Given the description of an element on the screen output the (x, y) to click on. 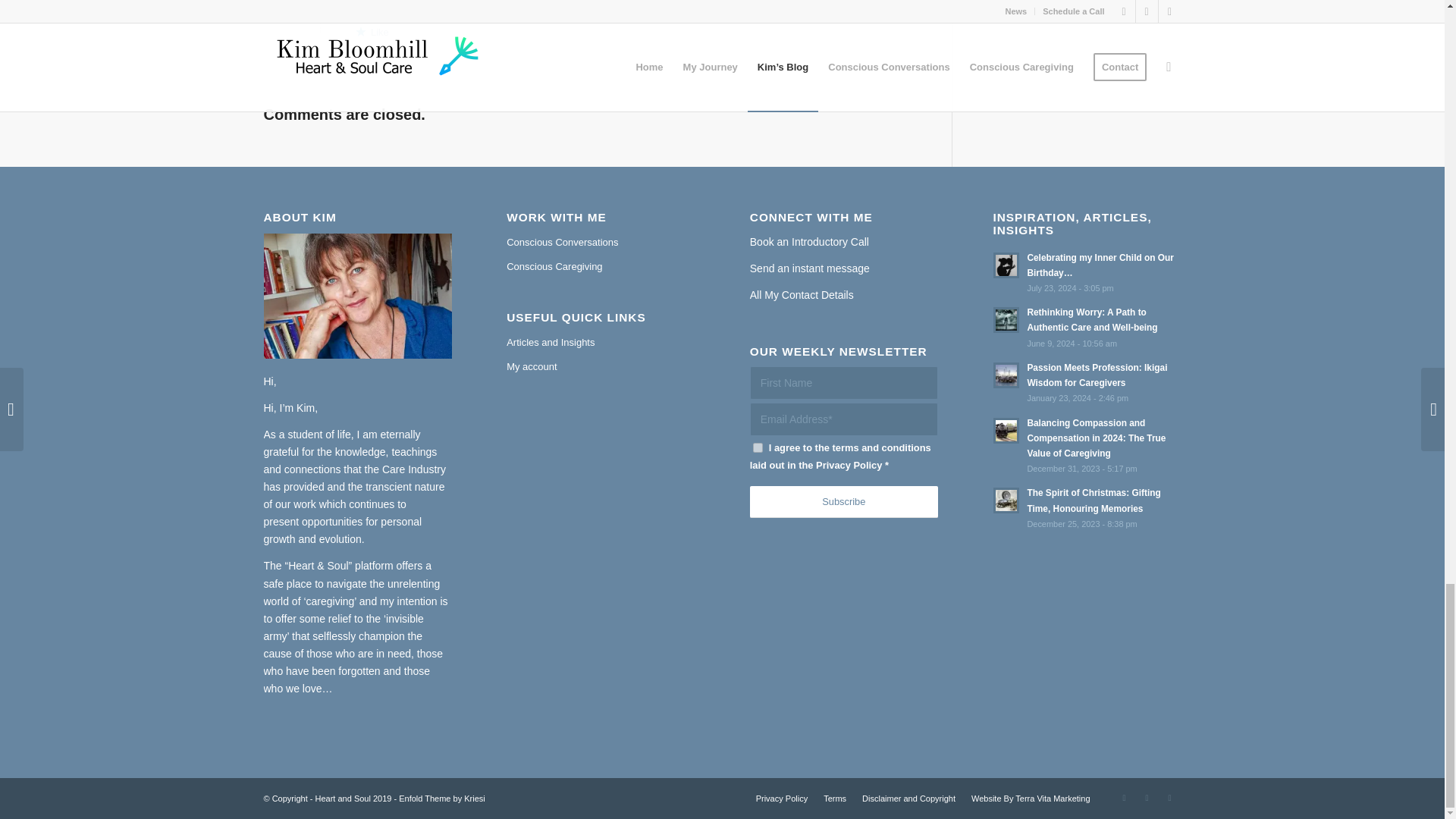
true (757, 447)
Subscribe (843, 501)
